Given the description of an element on the screen output the (x, y) to click on. 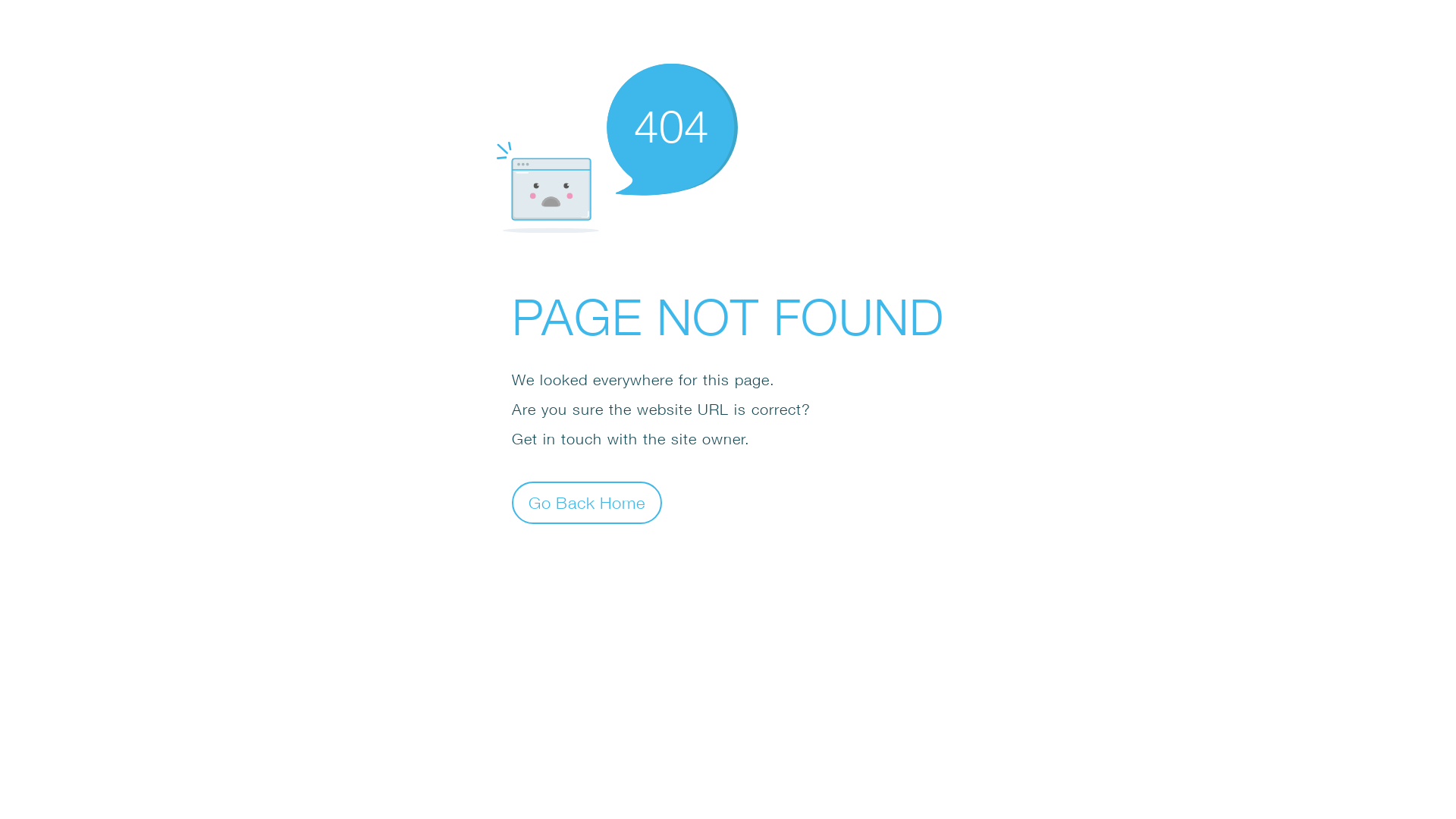
Go Back Home Element type: text (586, 502)
